Given the description of an element on the screen output the (x, y) to click on. 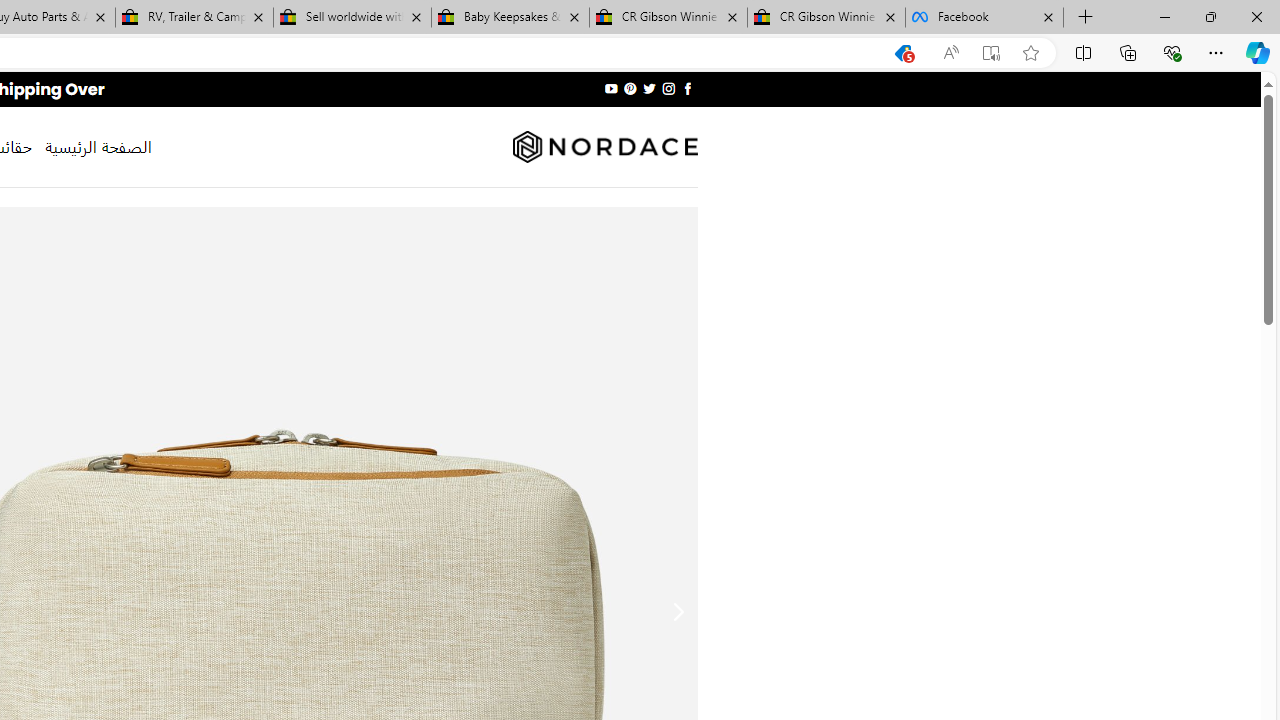
Enter Immersive Reader (F9) (991, 53)
Follow on Twitter (648, 88)
